Given the description of an element on the screen output the (x, y) to click on. 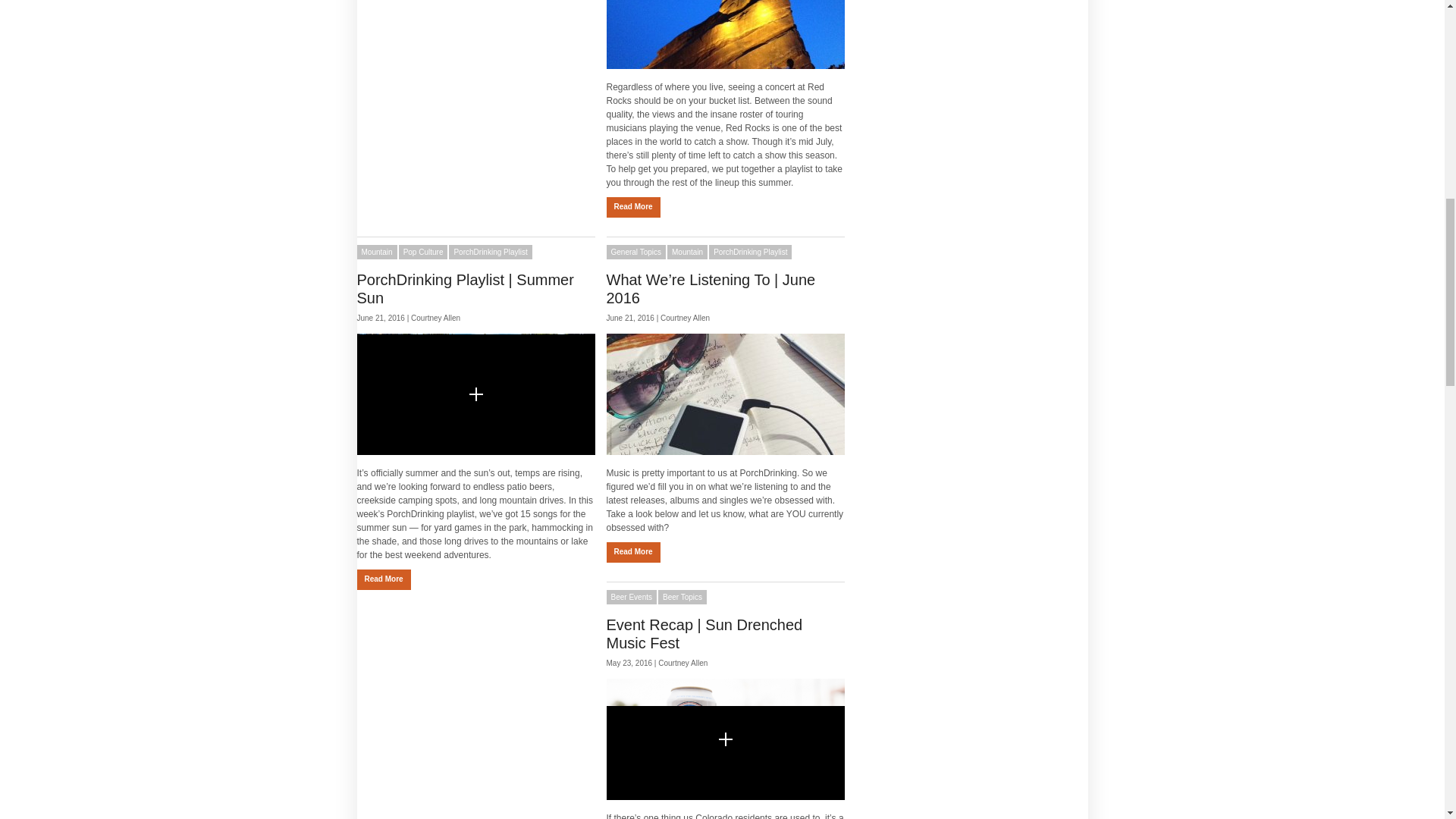
Posts by Courtney Allen (682, 663)
Posts by Courtney Allen (435, 317)
Posts by Courtney Allen (685, 317)
